Given the description of an element on the screen output the (x, y) to click on. 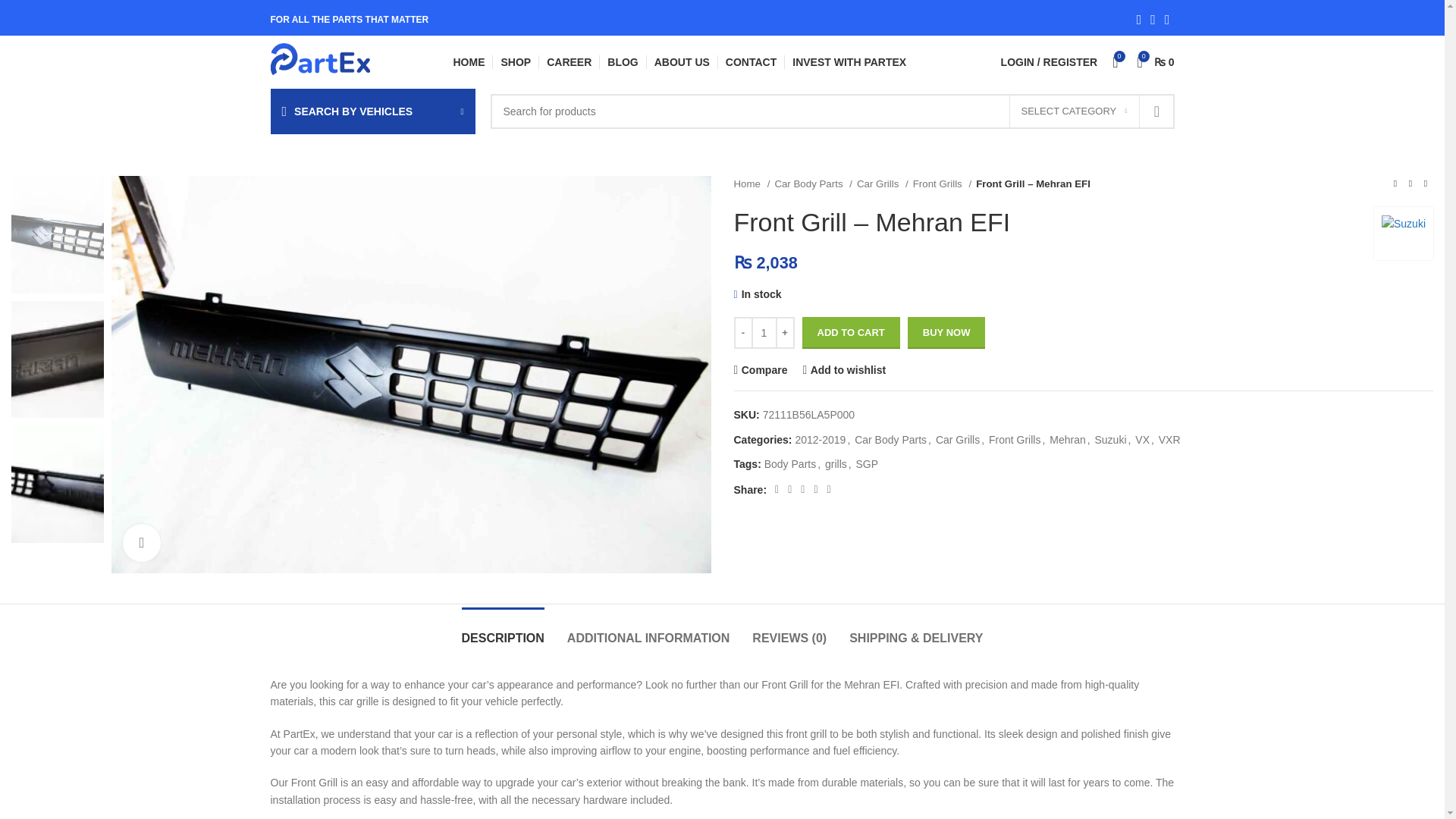
HOME (468, 61)
INVEST WITH PARTEX (848, 61)
Search for products (831, 111)
SHOP (515, 61)
CAREER (569, 61)
BLOG (622, 61)
Suzuki (1403, 233)
CONTACT (750, 61)
My account (1048, 61)
ABOUT US (681, 61)
Shopping cart (1155, 61)
SELECT CATEGORY (1073, 111)
